Given the description of an element on the screen output the (x, y) to click on. 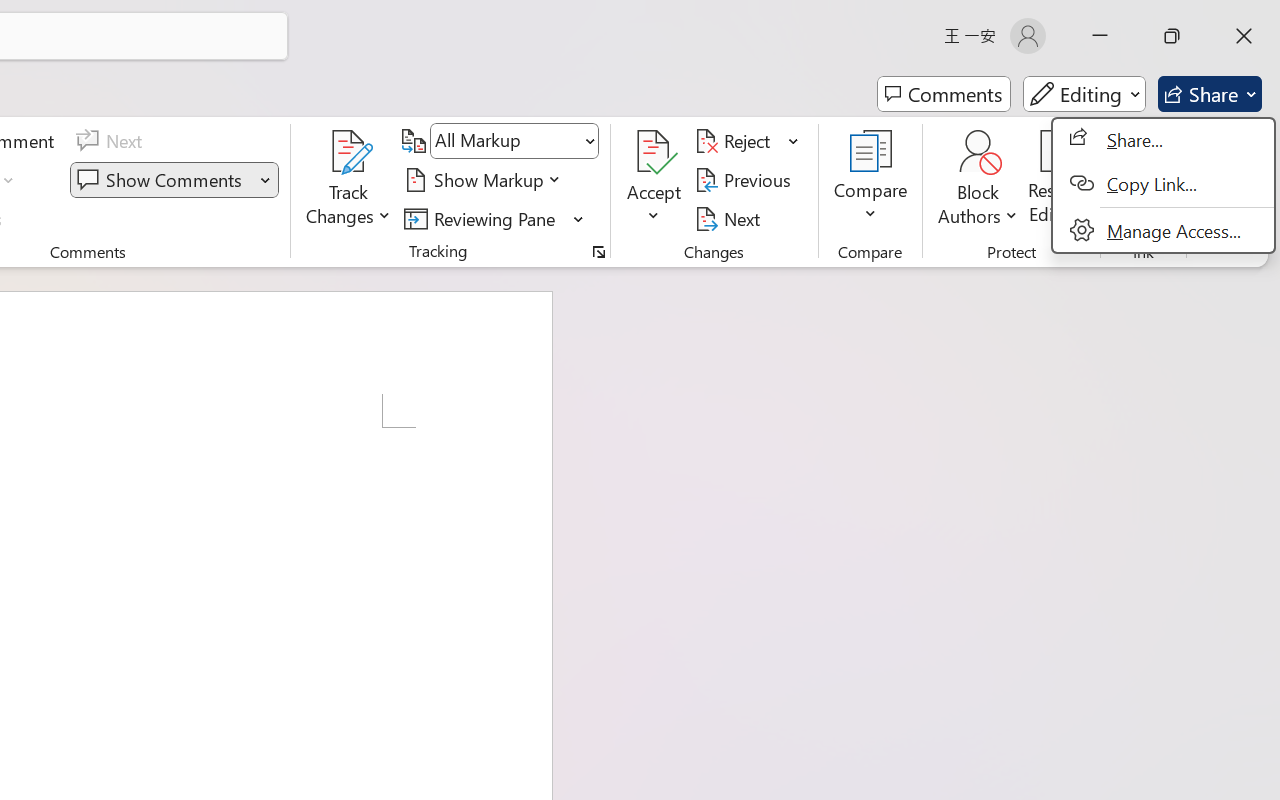
Accept and Move to Next (653, 151)
Track Changes (349, 151)
Reject (747, 141)
Change Tracking Options... (598, 252)
Show Comments (162, 179)
Reviewing Pane (494, 218)
Show Markup (485, 179)
Show Comments (174, 179)
Previous (745, 179)
Reviewing Pane (483, 218)
